Given the description of an element on the screen output the (x, y) to click on. 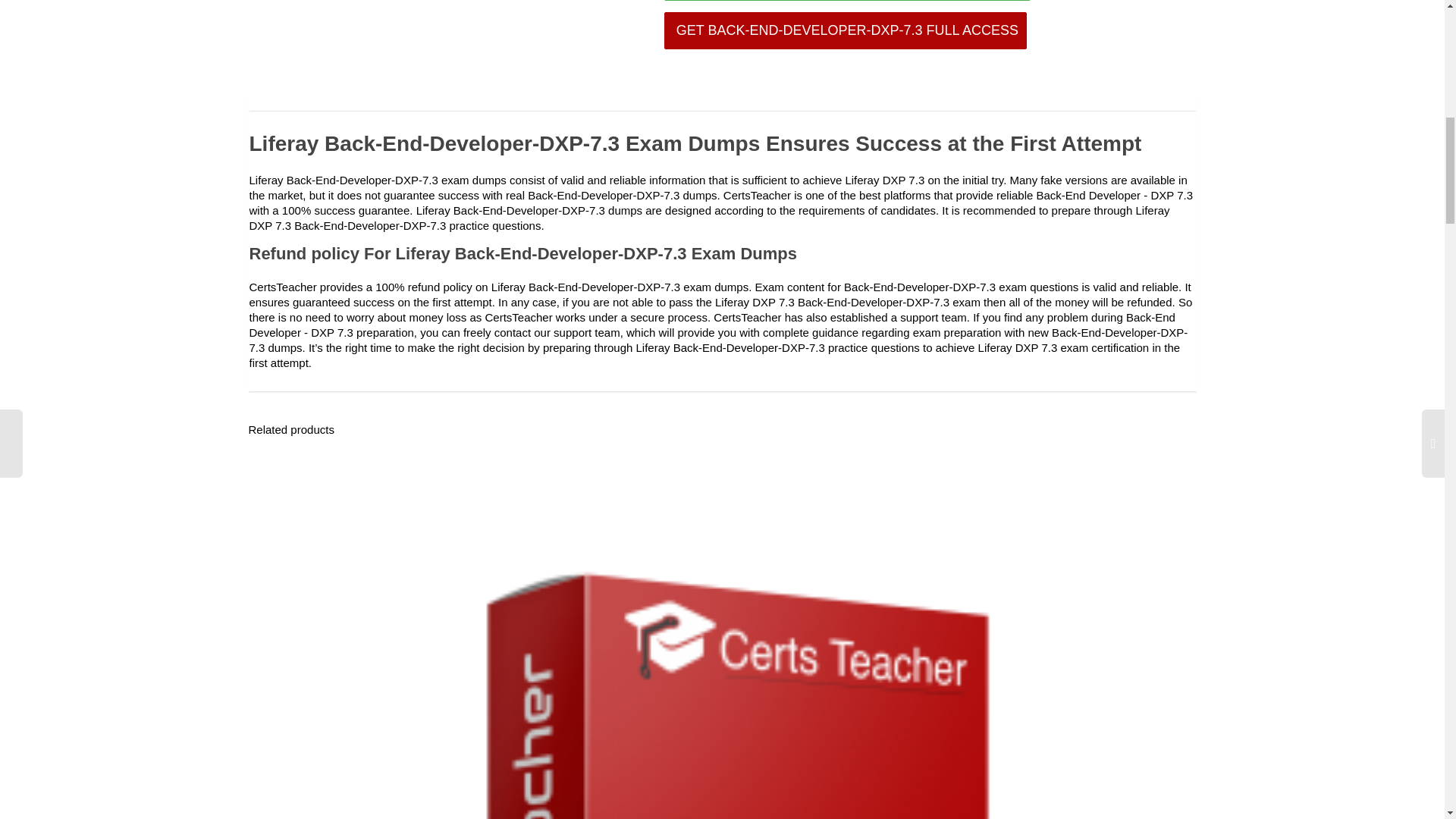
GET BACK-END-DEVELOPER-DXP-7.3 FULL ACCESS (844, 30)
